Given the description of an element on the screen output the (x, y) to click on. 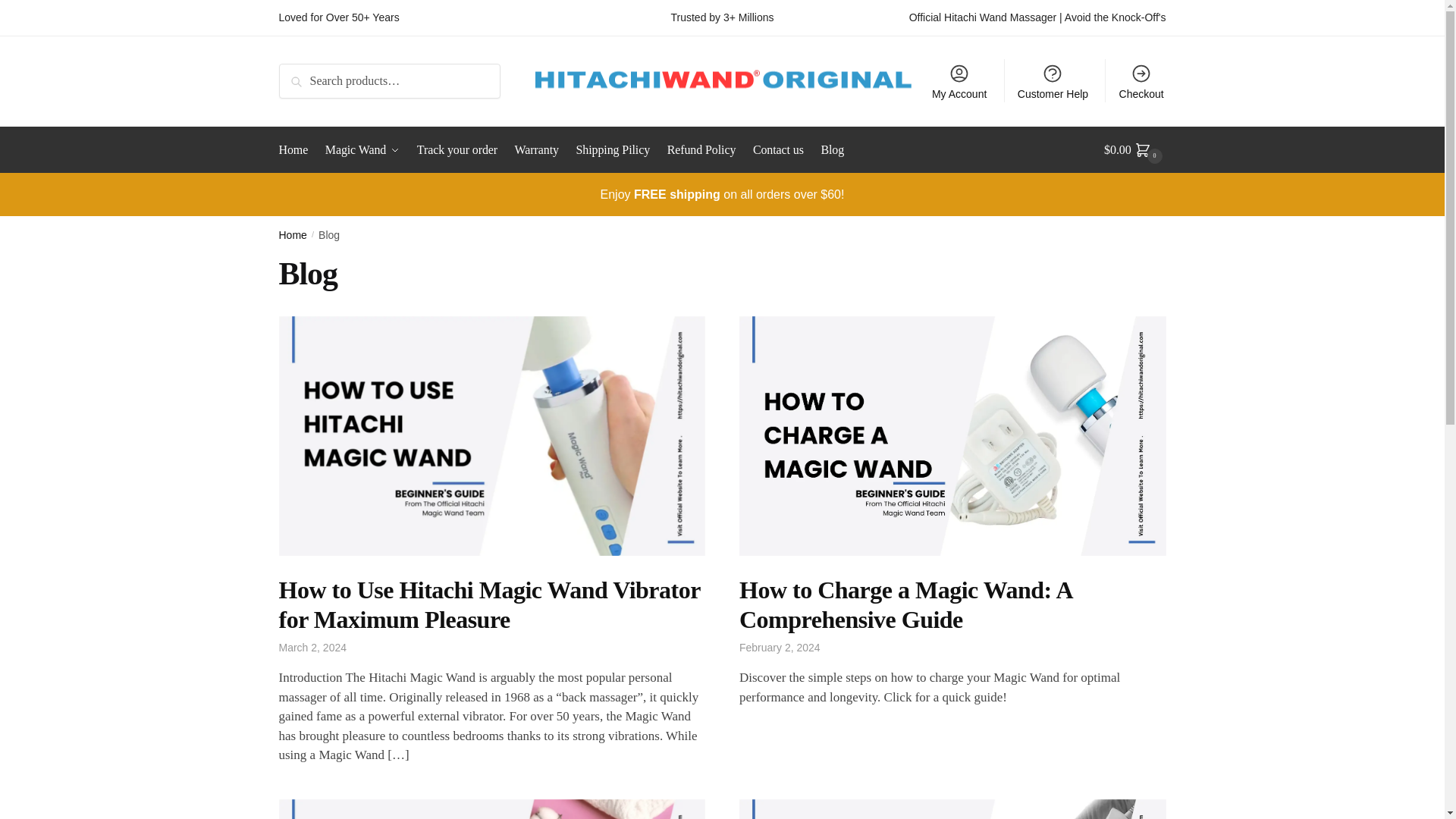
Warranty (537, 149)
View your shopping cart (1134, 149)
How to Charge a Magic Wand: A Comprehensive Guide (905, 604)
Shipping Pilicy (612, 149)
My Account (959, 80)
Customer Help (1053, 80)
How to Use Hitachi Magic Wand Vibrator for Maximum Pleasure (489, 604)
Checkout (1141, 80)
Home (293, 234)
Track your order (456, 149)
Contact us (777, 149)
Magic Wand (362, 149)
Refund Policy (701, 149)
Search (300, 74)
